Given the description of an element on the screen output the (x, y) to click on. 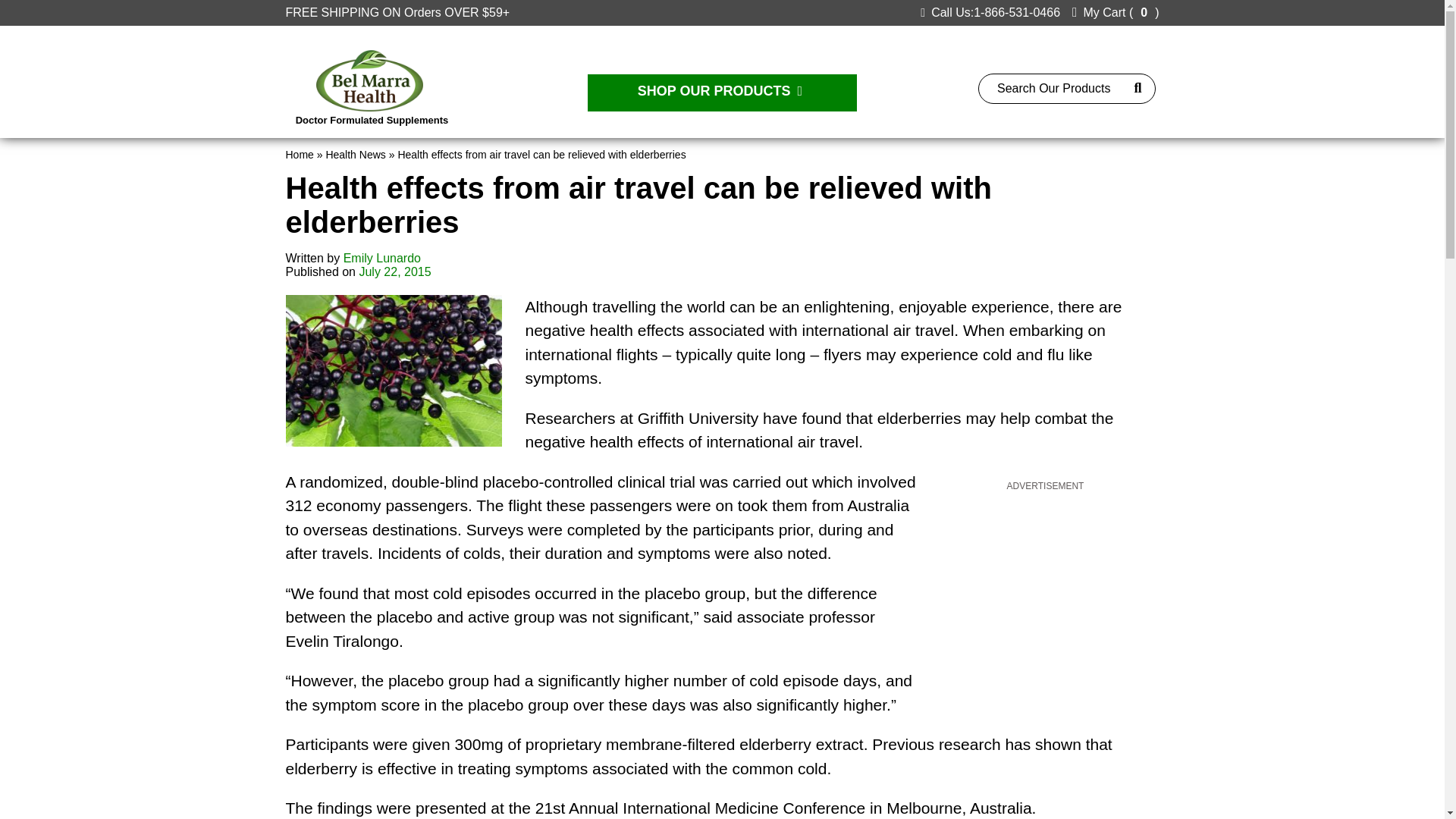
Call Us:1-866-531-0466 (989, 11)
SHOP OUR PRODUCTS (721, 92)
Posts by Emily Lunardo (381, 257)
Skip to the content (50, 6)
